Given the description of an element on the screen output the (x, y) to click on. 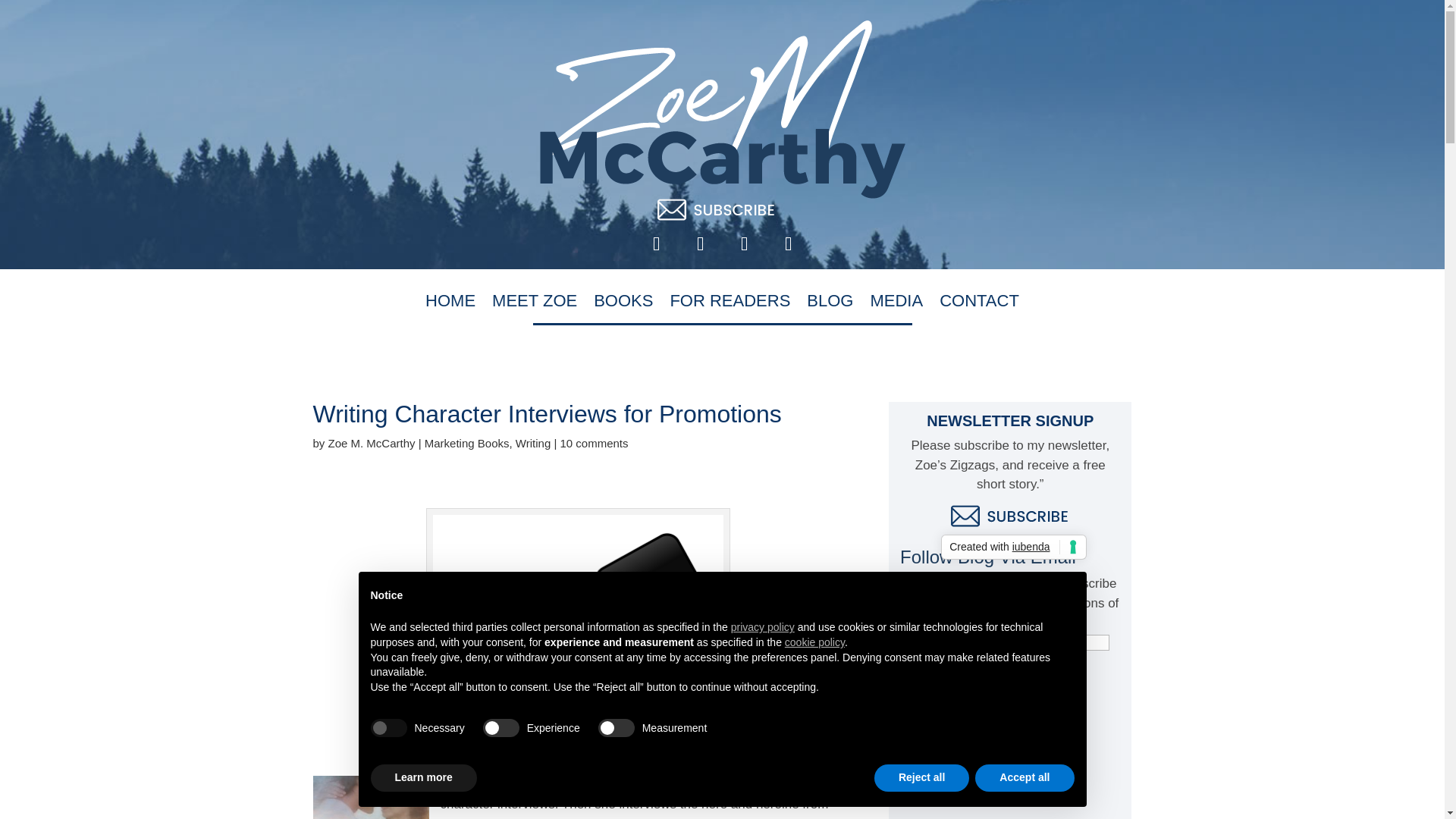
Zoe M. McCarthy (371, 442)
Follow on Instagram (743, 243)
MEDIA (896, 303)
CONTACT (979, 303)
Follow on LinkedIn (787, 243)
Marketing Books (467, 442)
Author Zoe M. McCarthy (722, 109)
true (387, 728)
false (616, 728)
MEET ZOE (534, 303)
false (501, 728)
Author Zoe M. McCarthy Newsletter Signup (1009, 515)
BLOG (829, 303)
Follow on X (700, 243)
FOR READERS (729, 303)
